Given the description of an element on the screen output the (x, y) to click on. 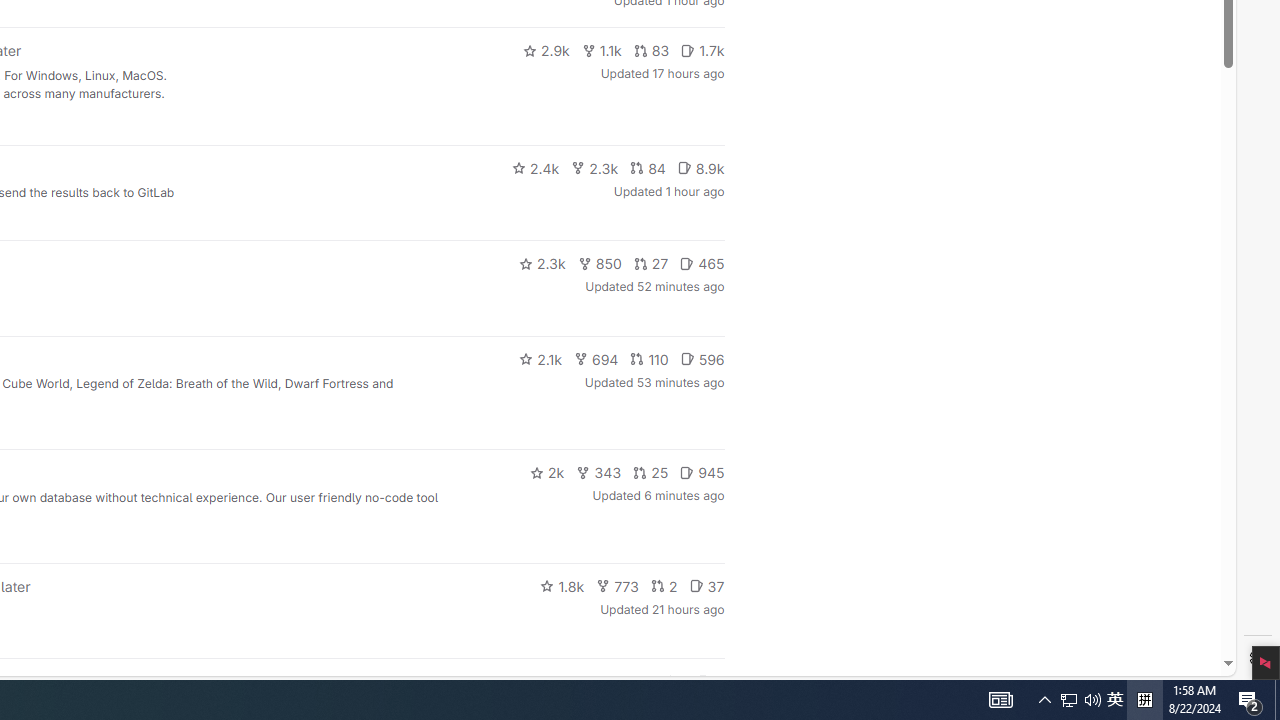
83 (651, 50)
1.7k (702, 50)
110 (649, 358)
2.4k (535, 167)
465 (701, 263)
37 (706, 585)
1.4k (573, 681)
2.1k (539, 358)
2 (664, 585)
25 (651, 472)
Class: s14 gl-mr-2 (704, 681)
850 (599, 263)
596 (701, 358)
